Given the description of an element on the screen output the (x, y) to click on. 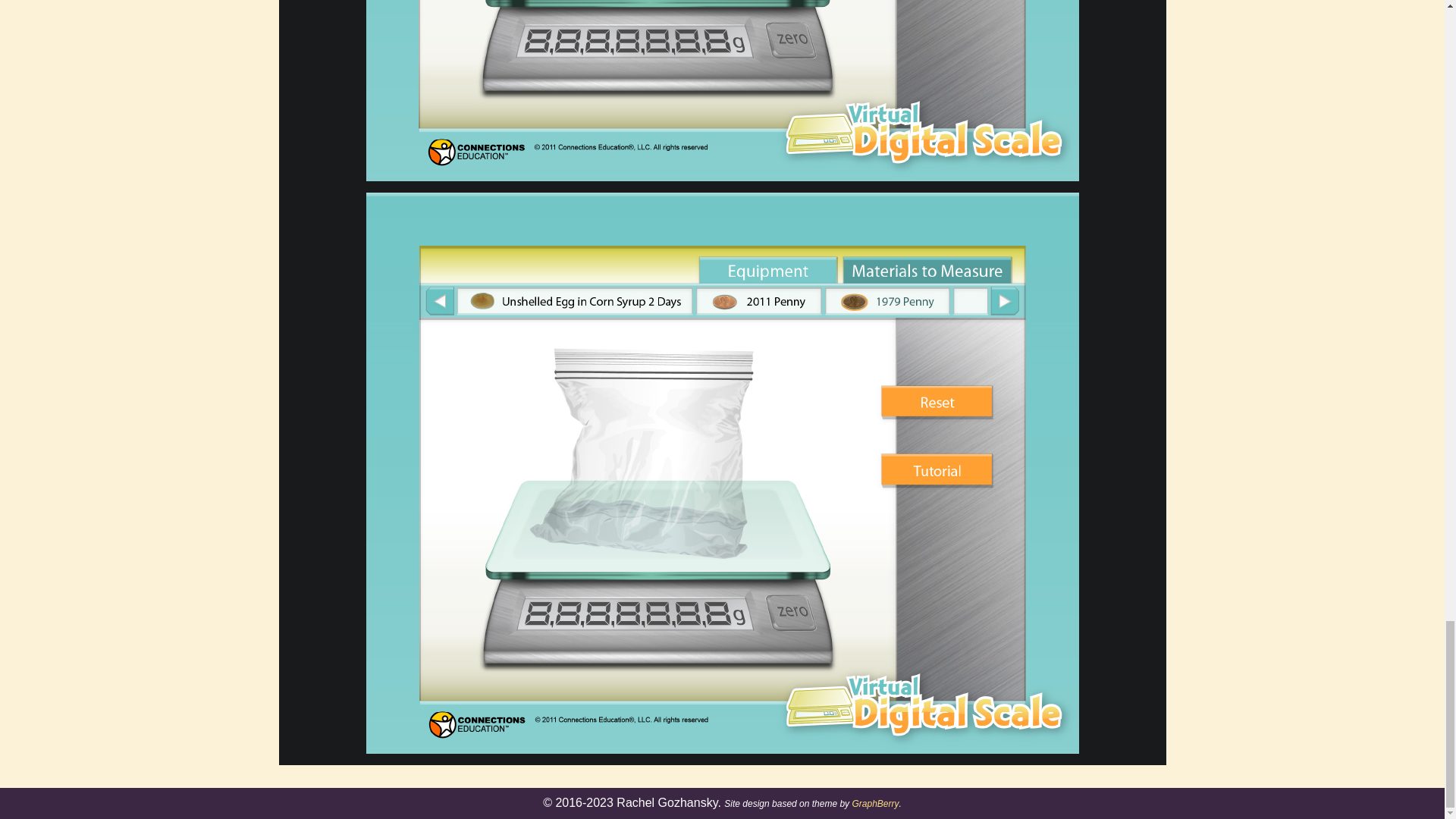
GraphBerry (874, 803)
